Given the description of an element on the screen output the (x, y) to click on. 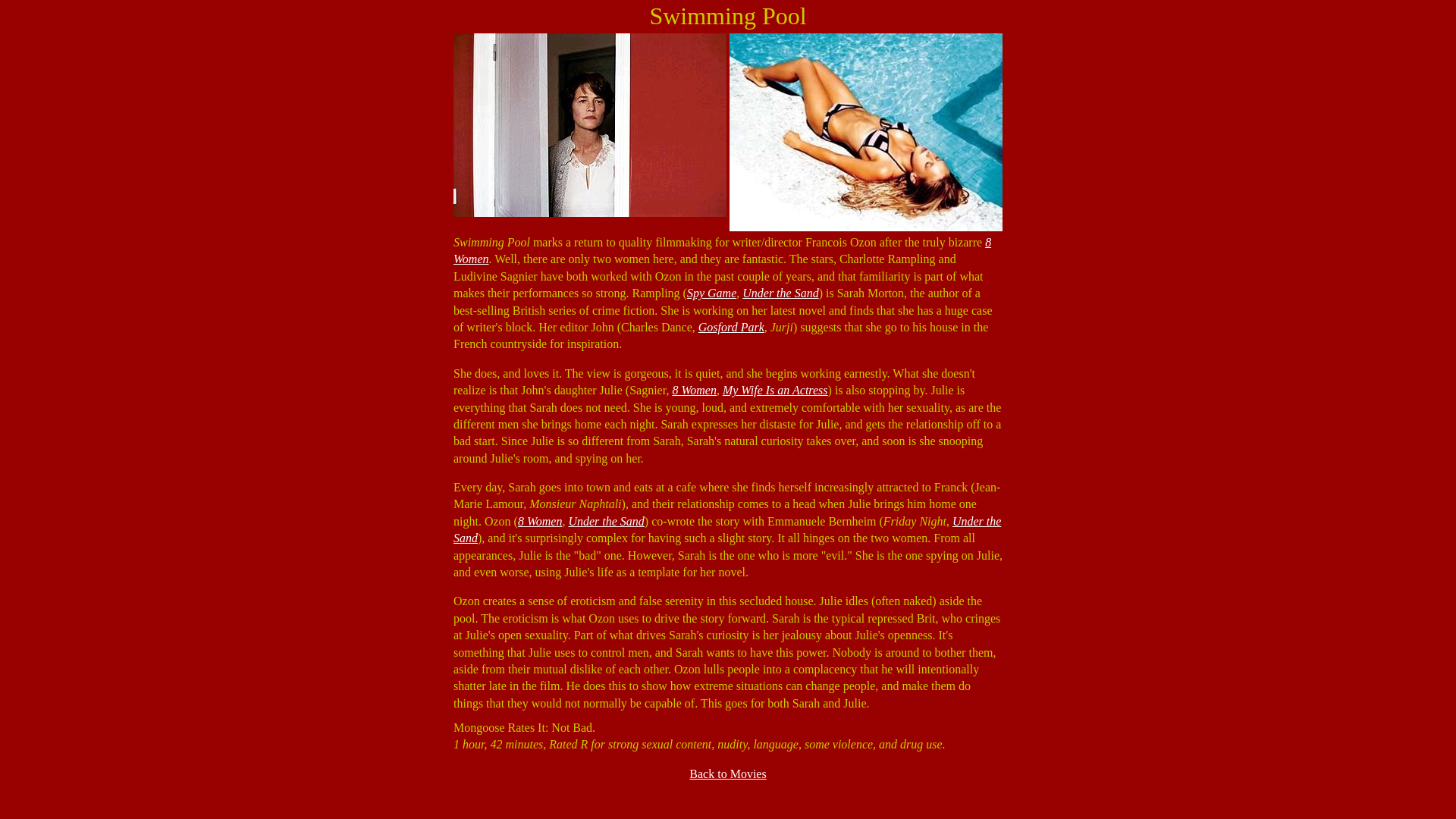
Under the Sand (780, 292)
Gosford Park (731, 327)
8 Women (693, 390)
Back to Movies (726, 773)
8 Women (540, 521)
Spy Game (711, 292)
8 Women (721, 250)
Under the Sand (605, 521)
Under the Sand (726, 529)
My Wife Is an Actress (775, 390)
